Given the description of an element on the screen output the (x, y) to click on. 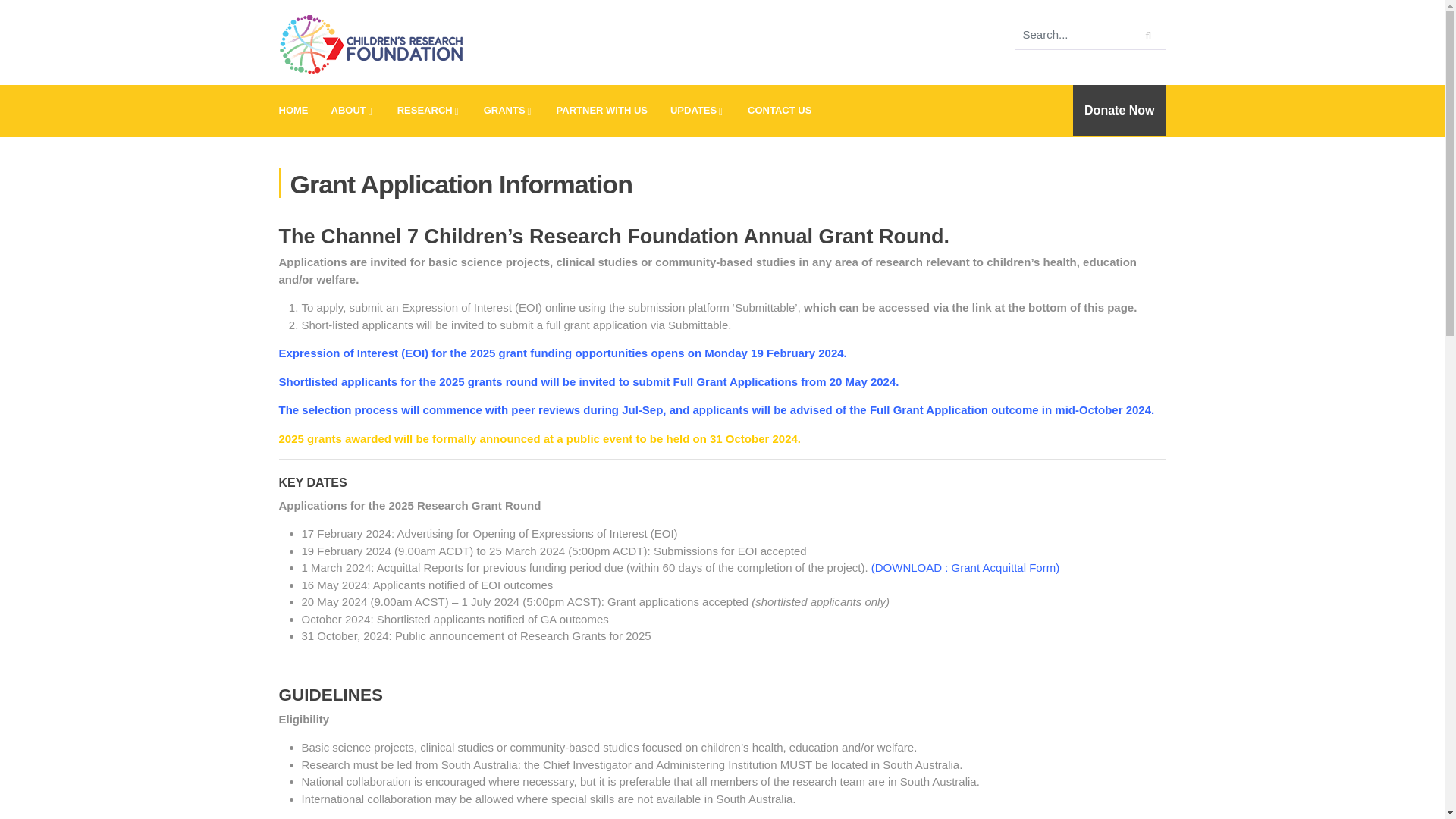
RESEARCH (428, 110)
ABOUT (352, 110)
